Given the description of an element on the screen output the (x, y) to click on. 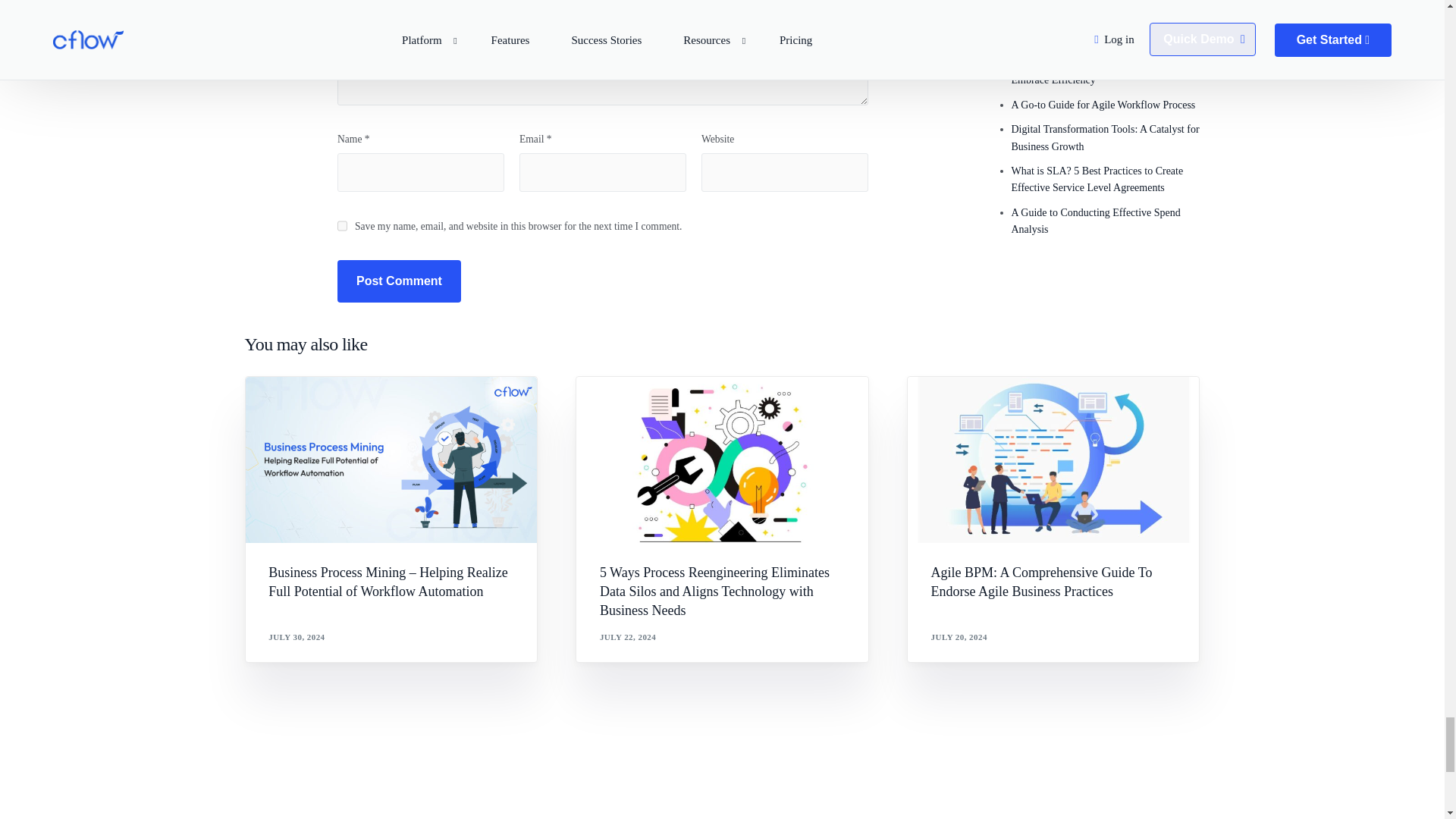
Post Comment (399, 281)
Post Comment (399, 281)
